Given the description of an element on the screen output the (x, y) to click on. 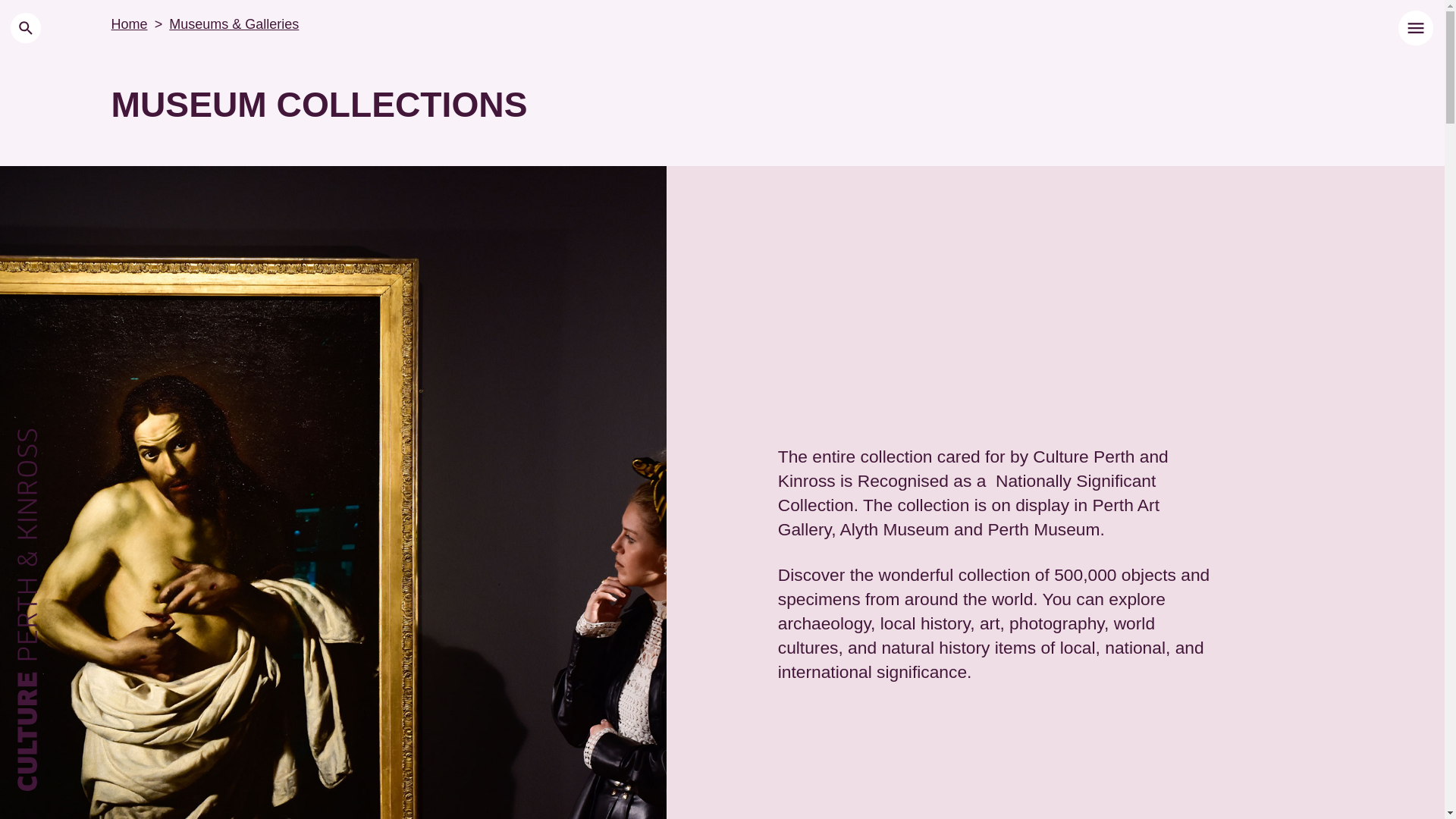
Home (130, 23)
